Given the description of an element on the screen output the (x, y) to click on. 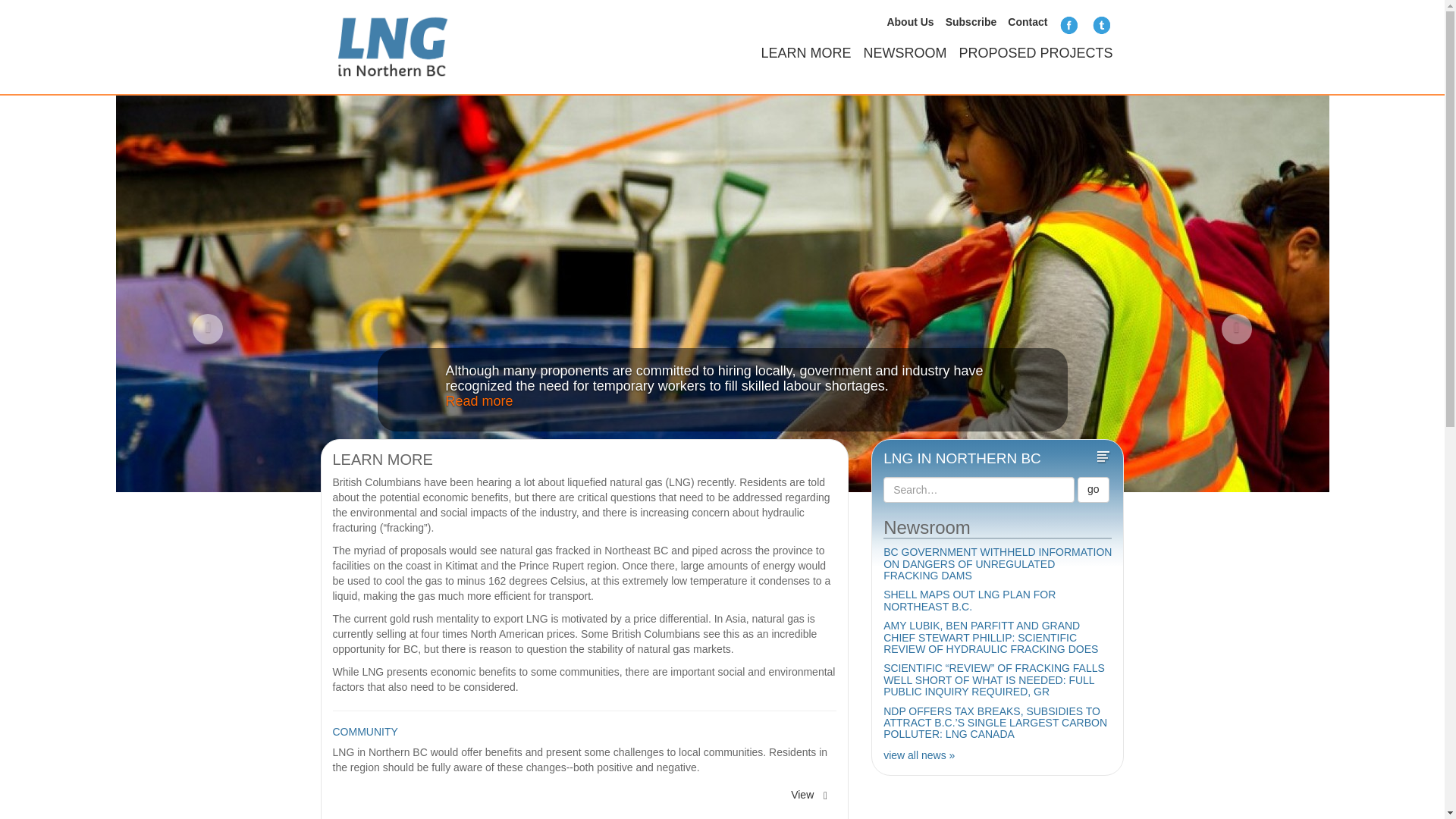
Contact (1026, 21)
About Us (909, 21)
PROPOSED PROJECTS (1029, 48)
Subscribe (970, 21)
LEARN MORE (799, 48)
NEWSROOM (898, 48)
COMMUNITY (364, 731)
SHELL MAPS OUT LNG PLAN FOR NORTHEAST B.C. (969, 599)
go (1093, 489)
